Given the description of an element on the screen output the (x, y) to click on. 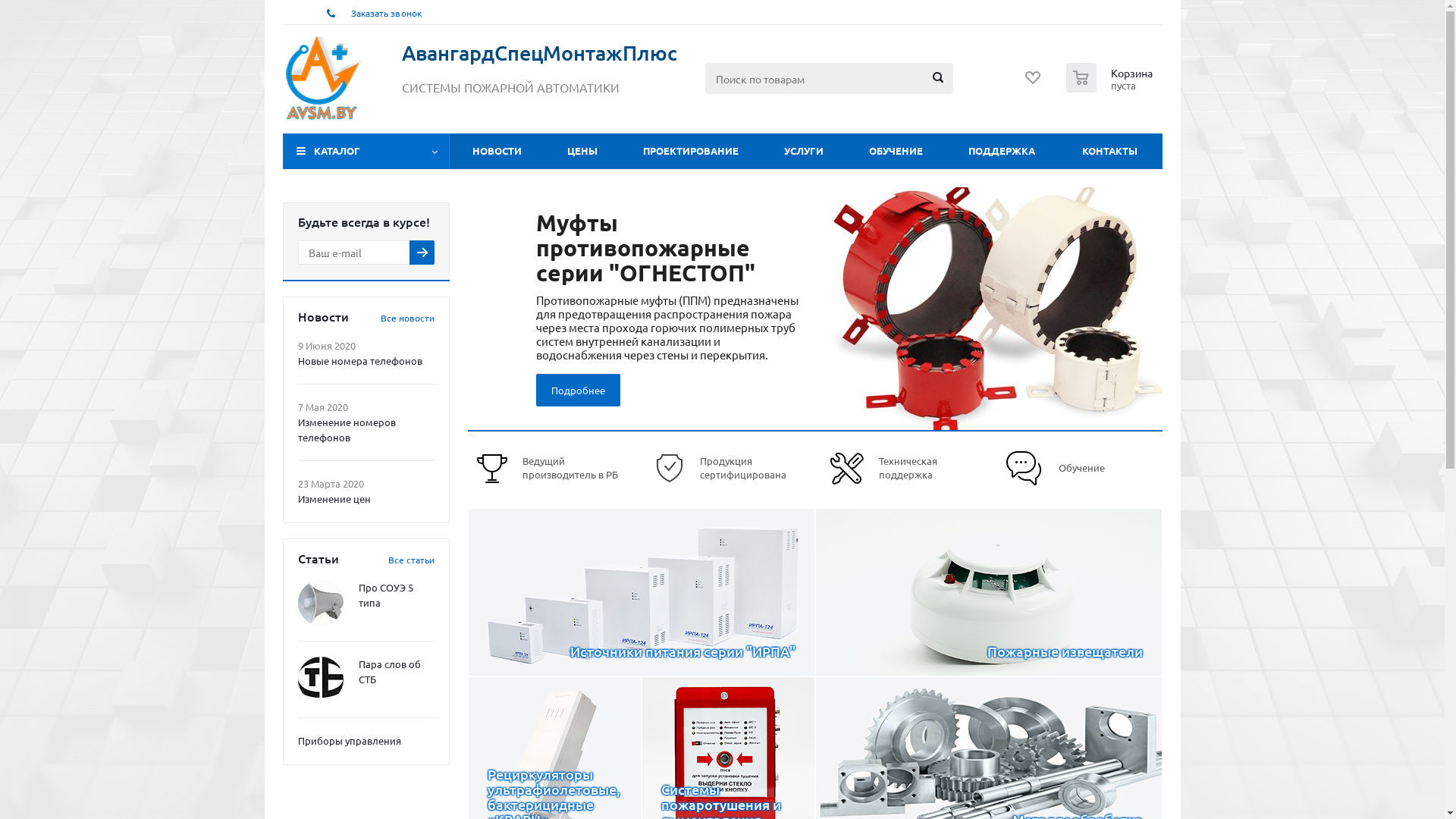
3 Element type: text (822, 413)
1 Element type: text (795, 413)
2 Element type: text (808, 413)
4 Element type: text (836, 413)
